Given the description of an element on the screen output the (x, y) to click on. 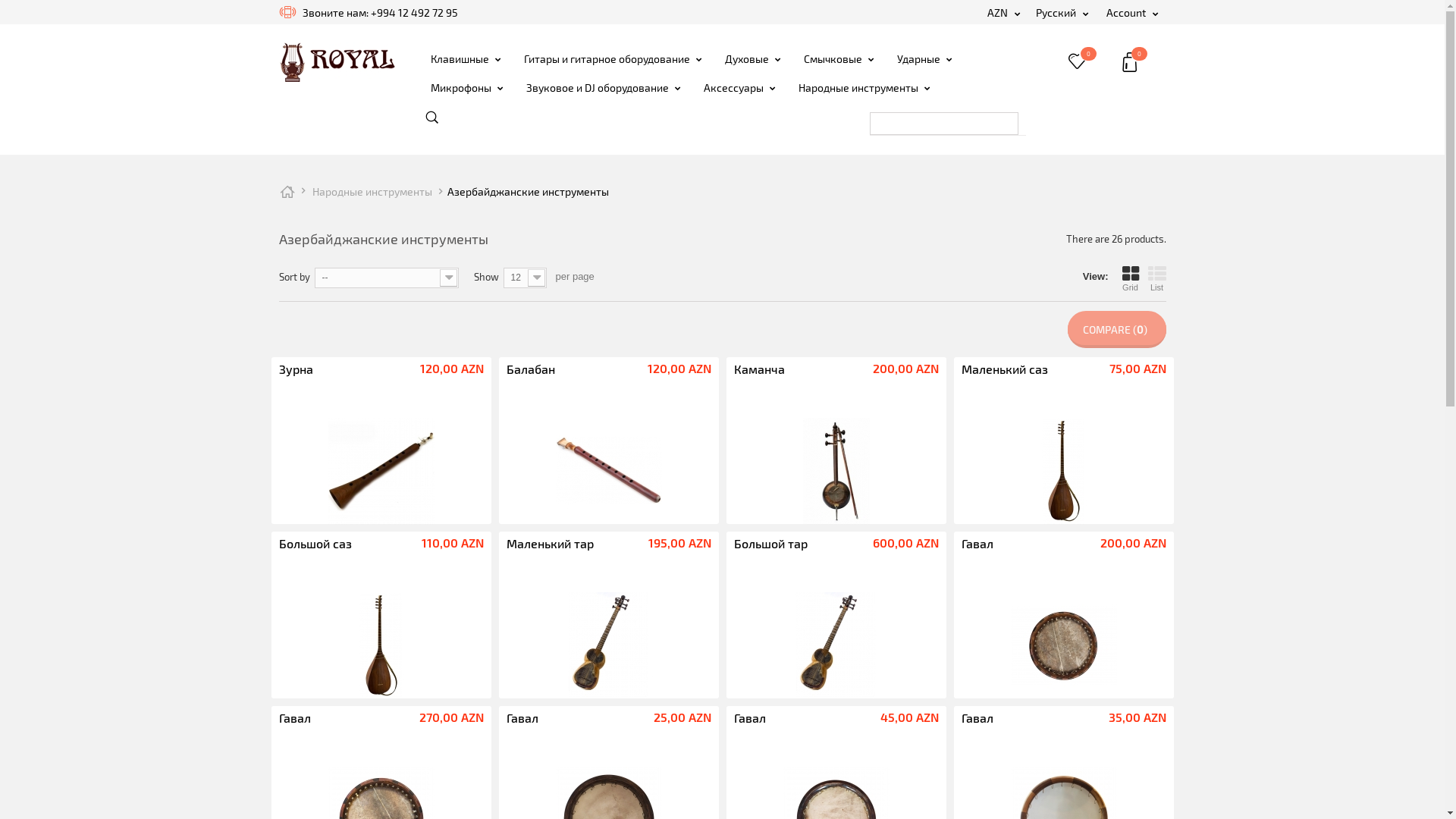
Grid Element type: text (1130, 277)
List Element type: text (1157, 277)
Royal Musical Instruments Salon Element type: hover (337, 60)
COMPARE (0) Element type: text (1116, 329)
Return to Home Element type: hover (286, 191)
0 Element type: text (1093, 59)
